Given the description of an element on the screen output the (x, y) to click on. 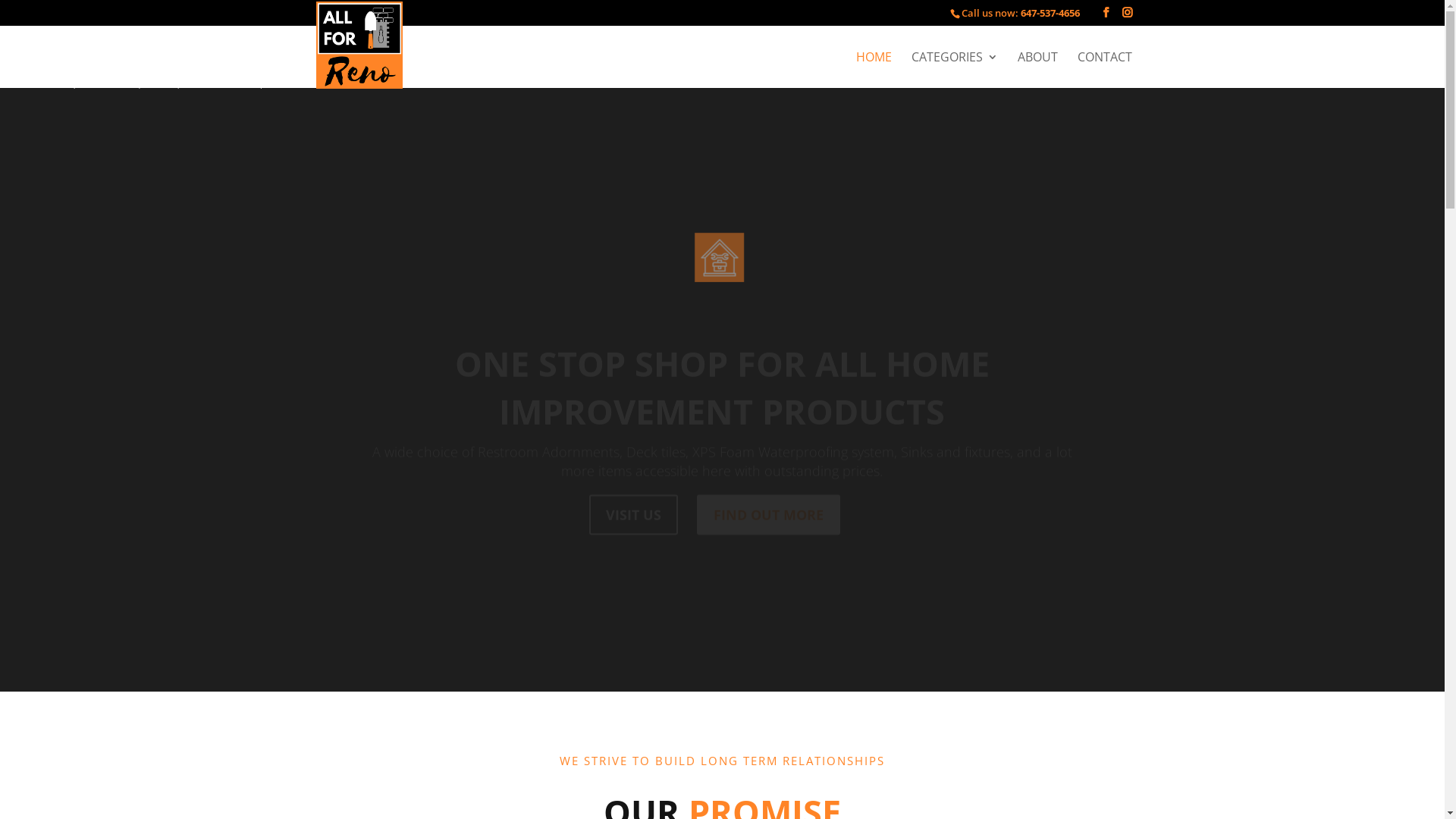
HOME Element type: text (873, 69)
ABOUT Element type: text (1037, 69)
CONTACT Element type: text (1103, 69)
FIND OUT MORE Element type: text (768, 493)
CATEGORIES Element type: text (954, 69)
647-537-4656 Element type: text (1049, 12)
VISIT US Element type: text (633, 493)
